Given the description of an element on the screen output the (x, y) to click on. 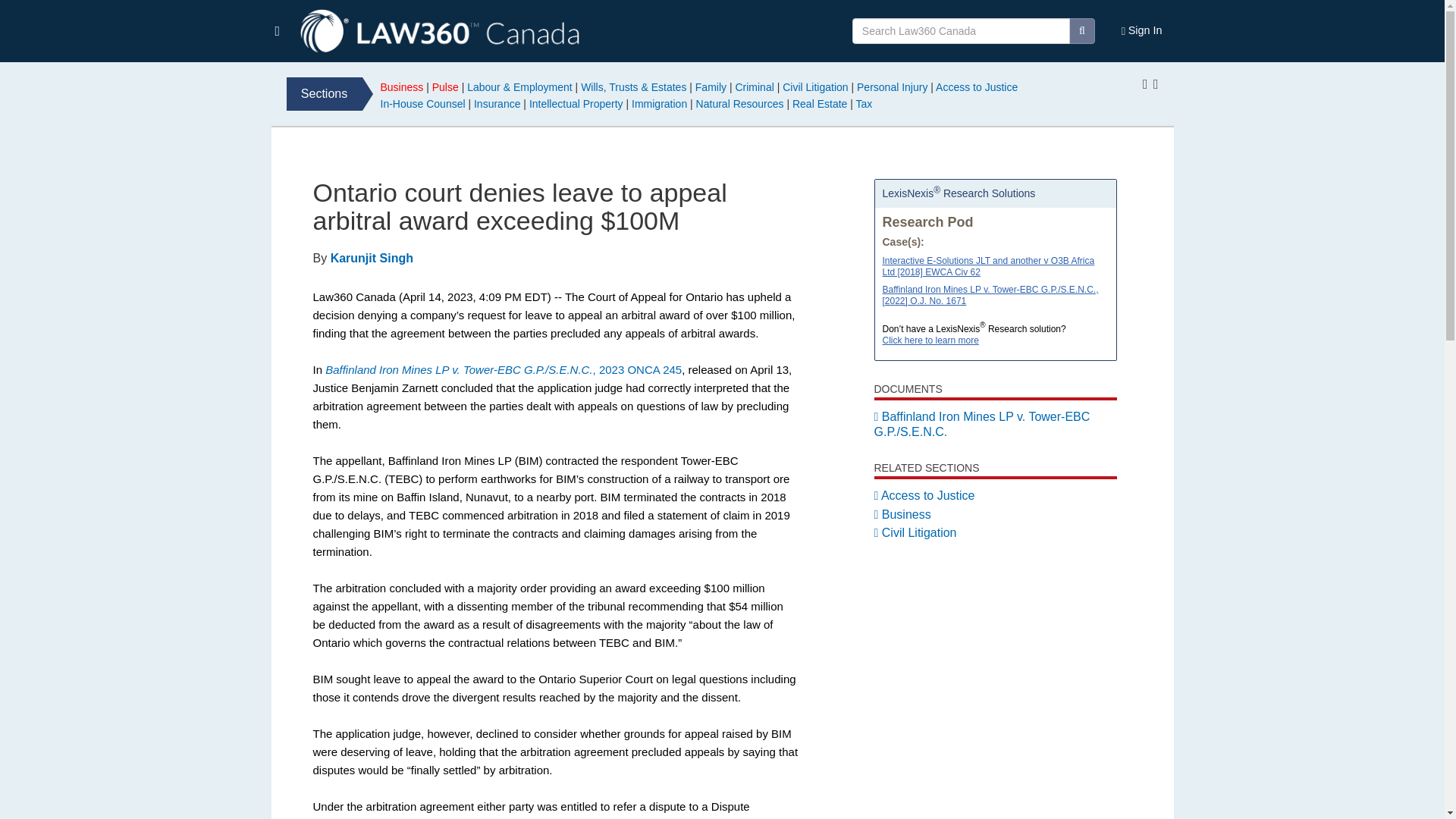
Pulse (445, 87)
Insurance (496, 103)
Pulse (976, 87)
Civil Litigation (815, 87)
Business (401, 87)
In-House Counsel (422, 103)
Search Button (1081, 31)
  Sign In (1141, 31)
Criminal (754, 87)
Personal Injury (892, 87)
